Given the description of an element on the screen output the (x, y) to click on. 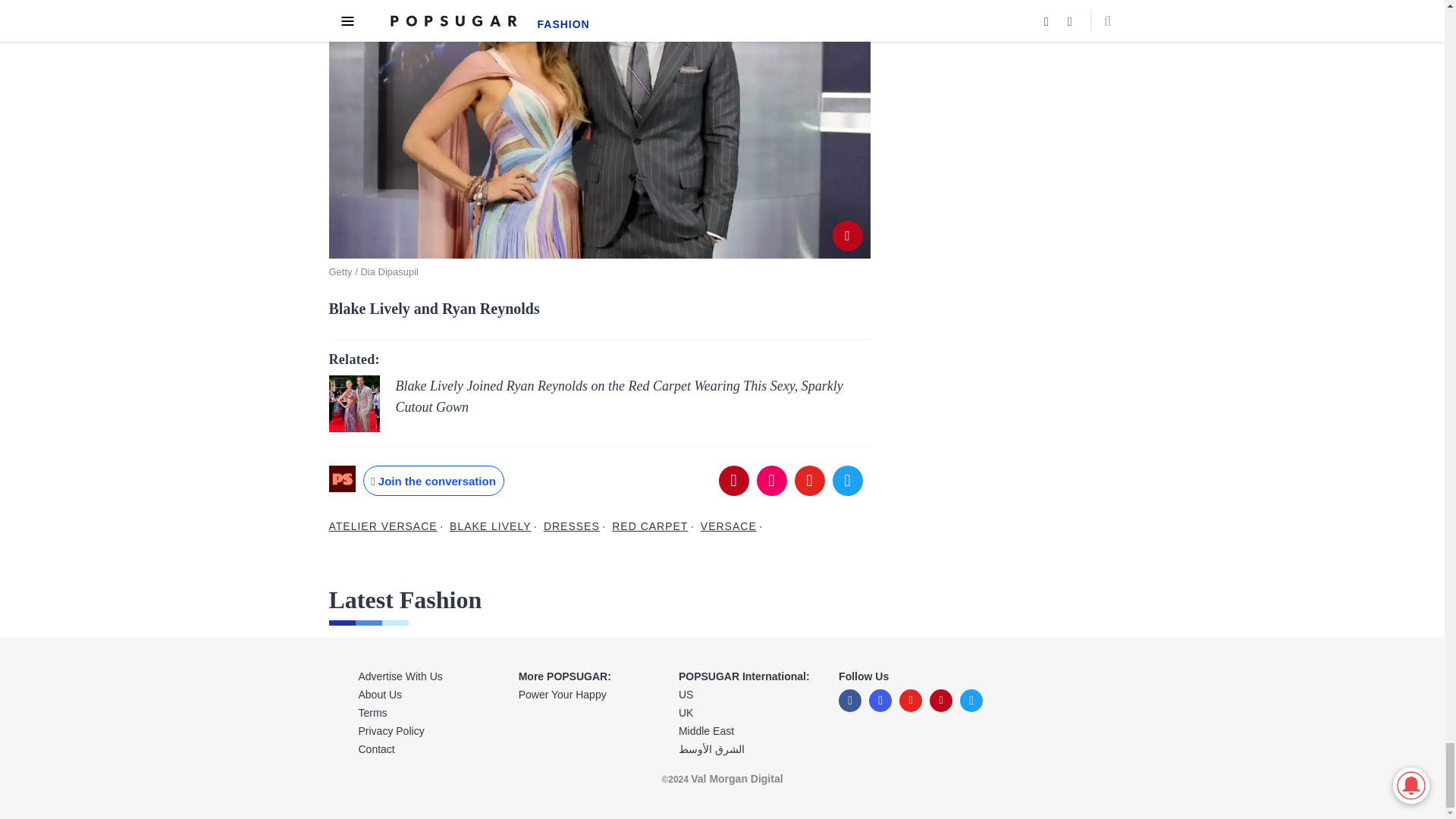
Advertisement link (430, 676)
About Us Link (430, 694)
